Given the description of an element on the screen output the (x, y) to click on. 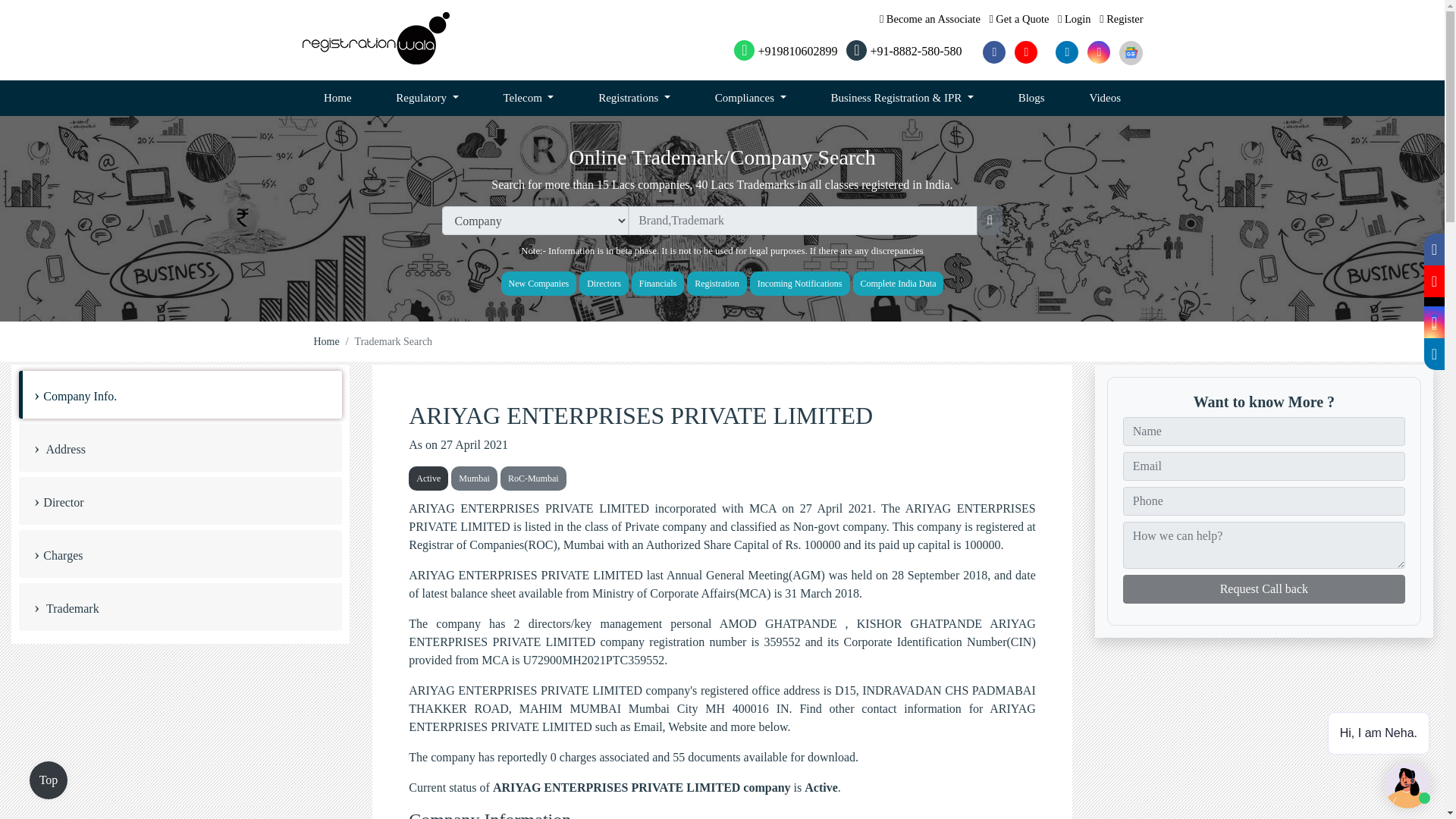
Get a Quote (1018, 19)
Regulatory (427, 98)
Login (1074, 19)
Become an Associate (929, 19)
Home (337, 98)
Register (1120, 19)
